Given the description of an element on the screen output the (x, y) to click on. 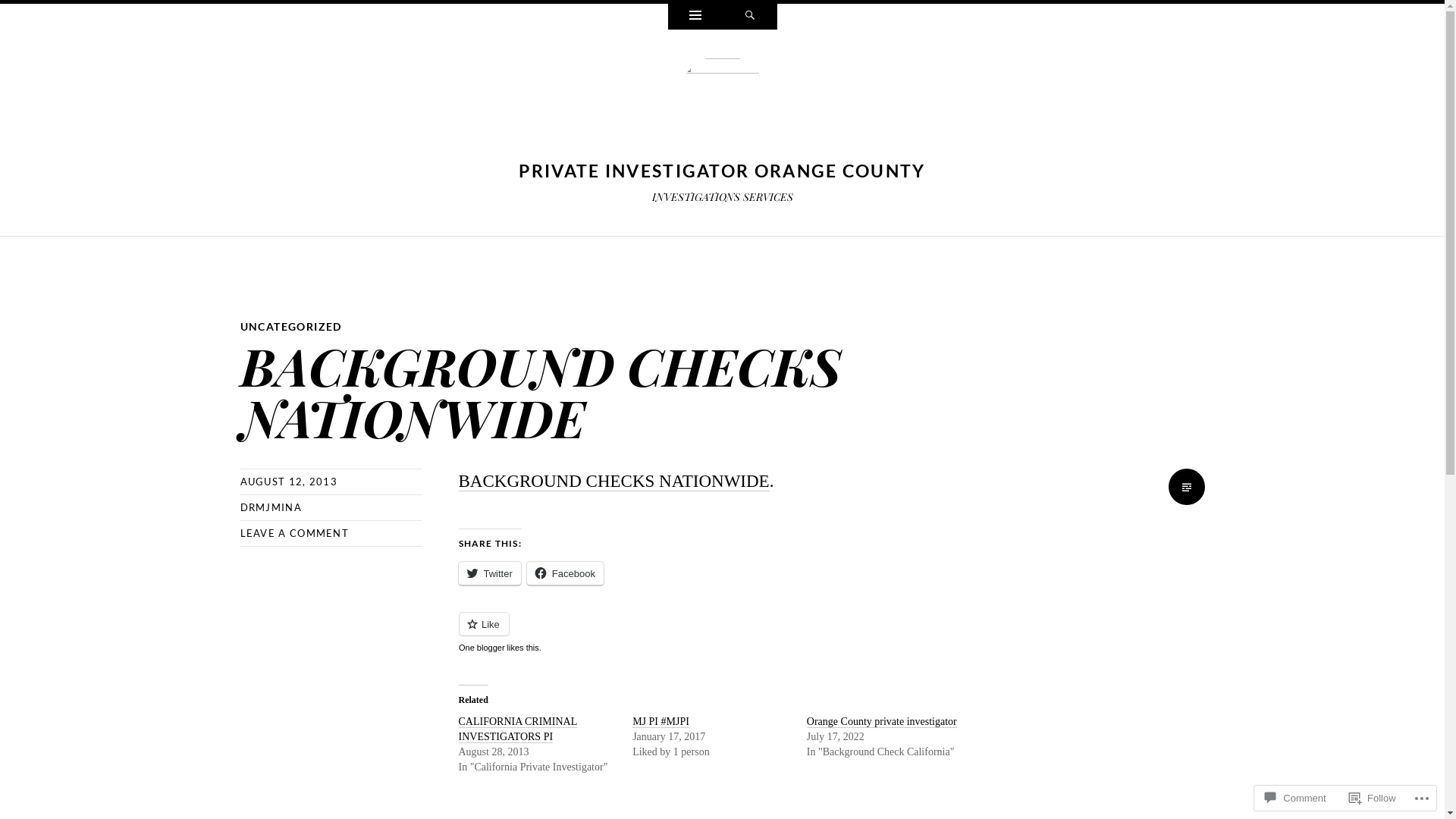
UNCATEGORIZED Element type: text (290, 326)
Like or Reblog Element type: hover (721, 632)
Widgets Element type: hover (694, 16)
BACKGROUND CHECKS NATIONWIDE Element type: text (613, 481)
Facebook Element type: text (565, 573)
Follow Element type: text (1372, 797)
Comment Element type: text (1294, 797)
DRMJMINA Element type: text (270, 507)
Search Element type: hover (748, 16)
PRIVATE INVESTIGATOR ORANGE COUNTY Element type: hover (721, 104)
Orange County private investigator Element type: text (881, 721)
CALIFORNIA CRIMINAL INVESTIGATORS PI Element type: text (517, 729)
LEAVE A COMMENT Element type: text (293, 533)
MJ PI #MJPI Element type: text (660, 721)
AUGUST 12, 2013 Element type: text (288, 481)
PRIVATE INVESTIGATOR ORANGE COUNTY Element type: text (721, 170)
Twitter Element type: text (489, 573)
